Given the description of an element on the screen output the (x, y) to click on. 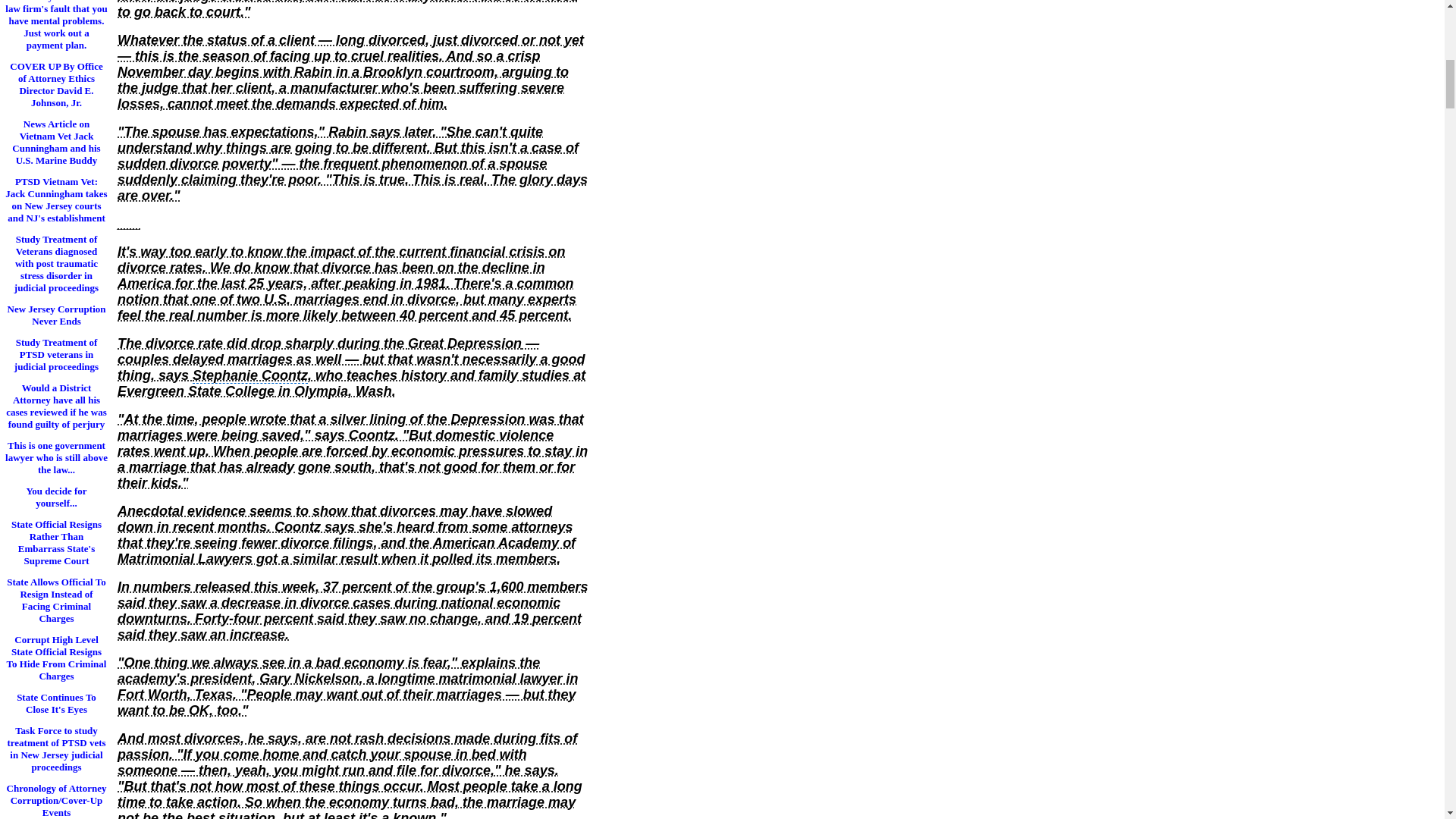
This is one government lawyer who is still above the law... (56, 456)
You decide for yourself... (55, 496)
Study Treatment of PTSD veterans in judicial proceedings (56, 353)
State Continues To Close It's Eyes (56, 702)
New Jersey Corruption Never Ends (56, 314)
